Given the description of an element on the screen output the (x, y) to click on. 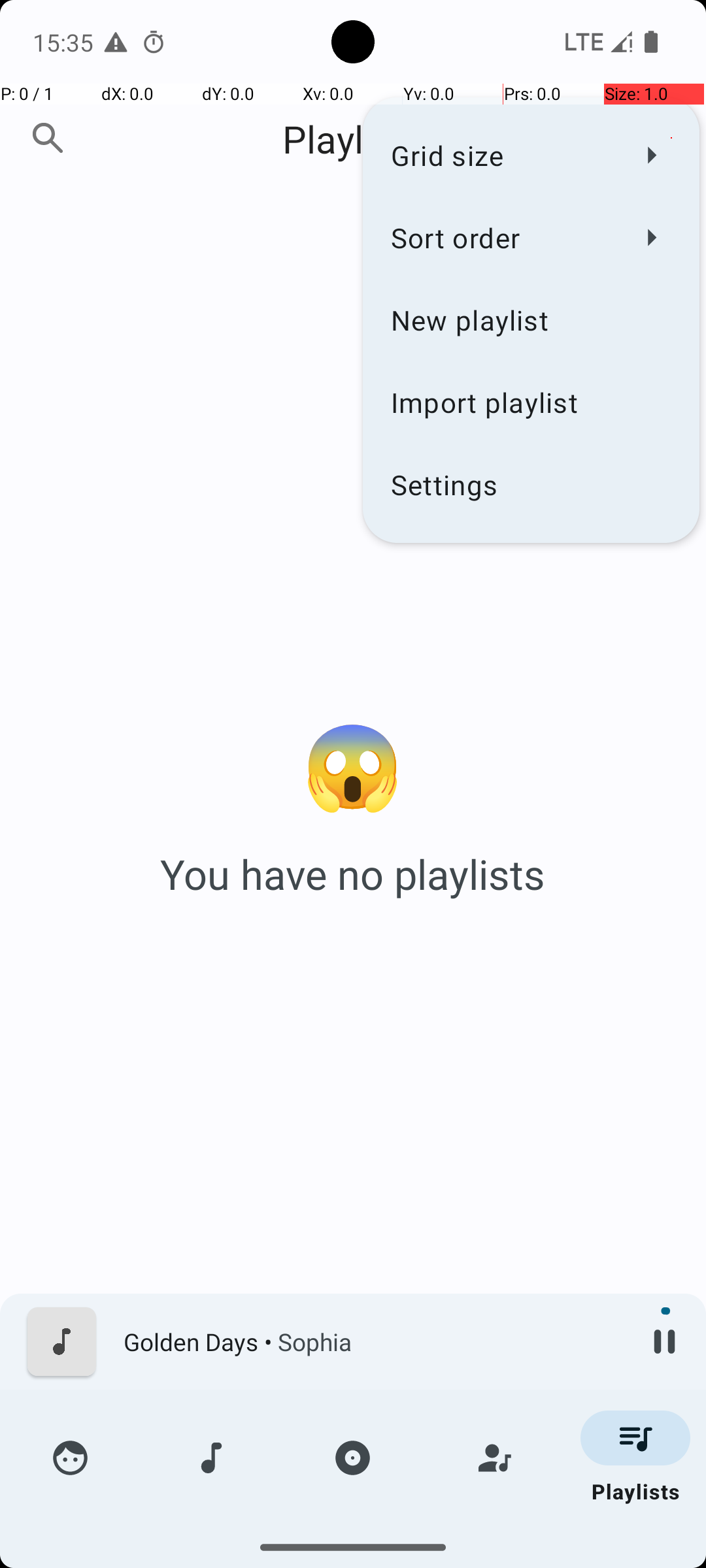
Grid size Element type: android.widget.TextView (503, 154)
Sort order Element type: android.widget.TextView (503, 237)
New playlist Element type: android.widget.TextView (531, 319)
Import playlist Element type: android.widget.TextView (531, 401)
